Given the description of an element on the screen output the (x, y) to click on. 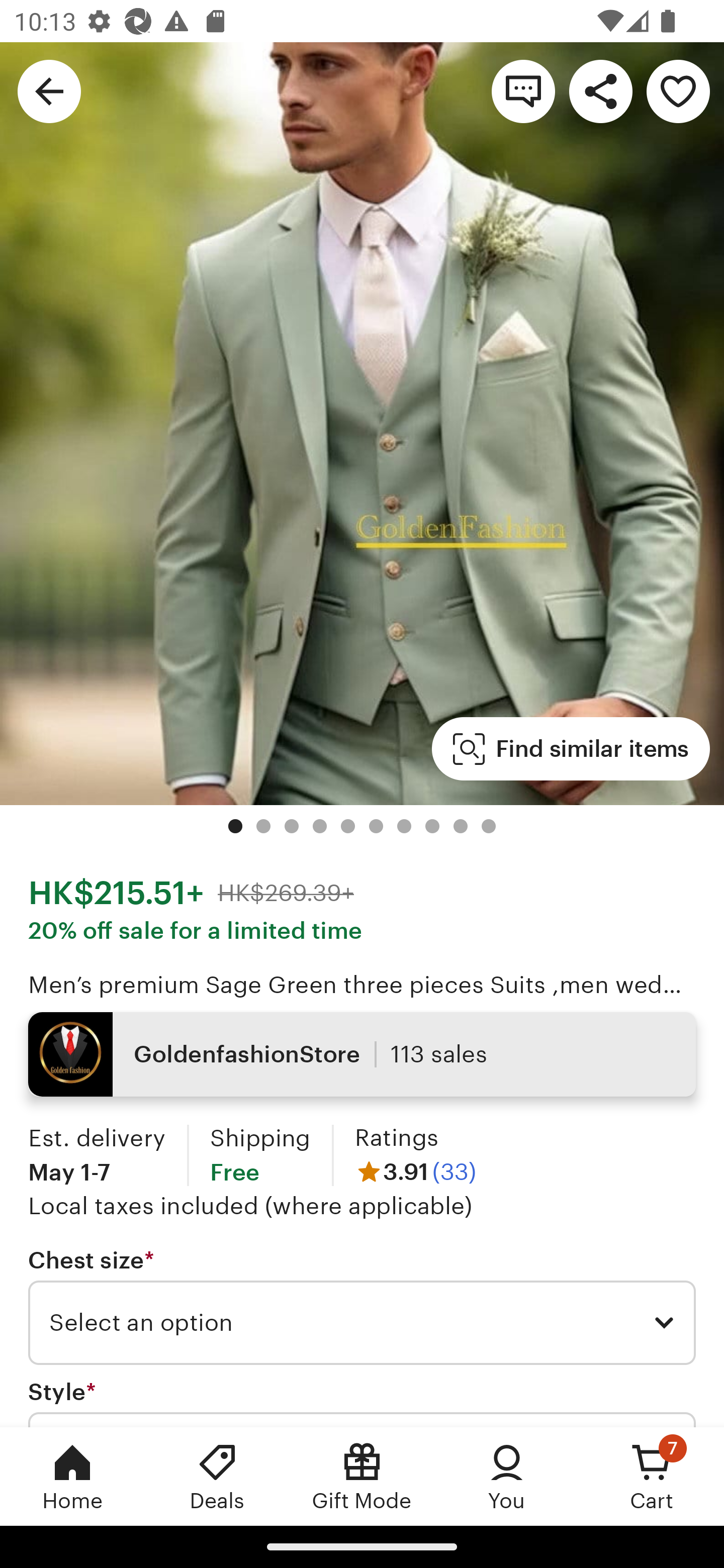
Navigate up (49, 90)
Contact shop (523, 90)
Share (600, 90)
Find similar items (571, 748)
GoldenfashionStore 113 sales (361, 1054)
Ratings (396, 1137)
3.91 (33) (415, 1171)
Chest size * Required Select an option (361, 1306)
Select an option (361, 1323)
Style * Required Select an option (361, 1402)
Deals (216, 1475)
Gift Mode (361, 1475)
You (506, 1475)
Cart, 7 new notifications Cart (651, 1475)
